Given the description of an element on the screen output the (x, y) to click on. 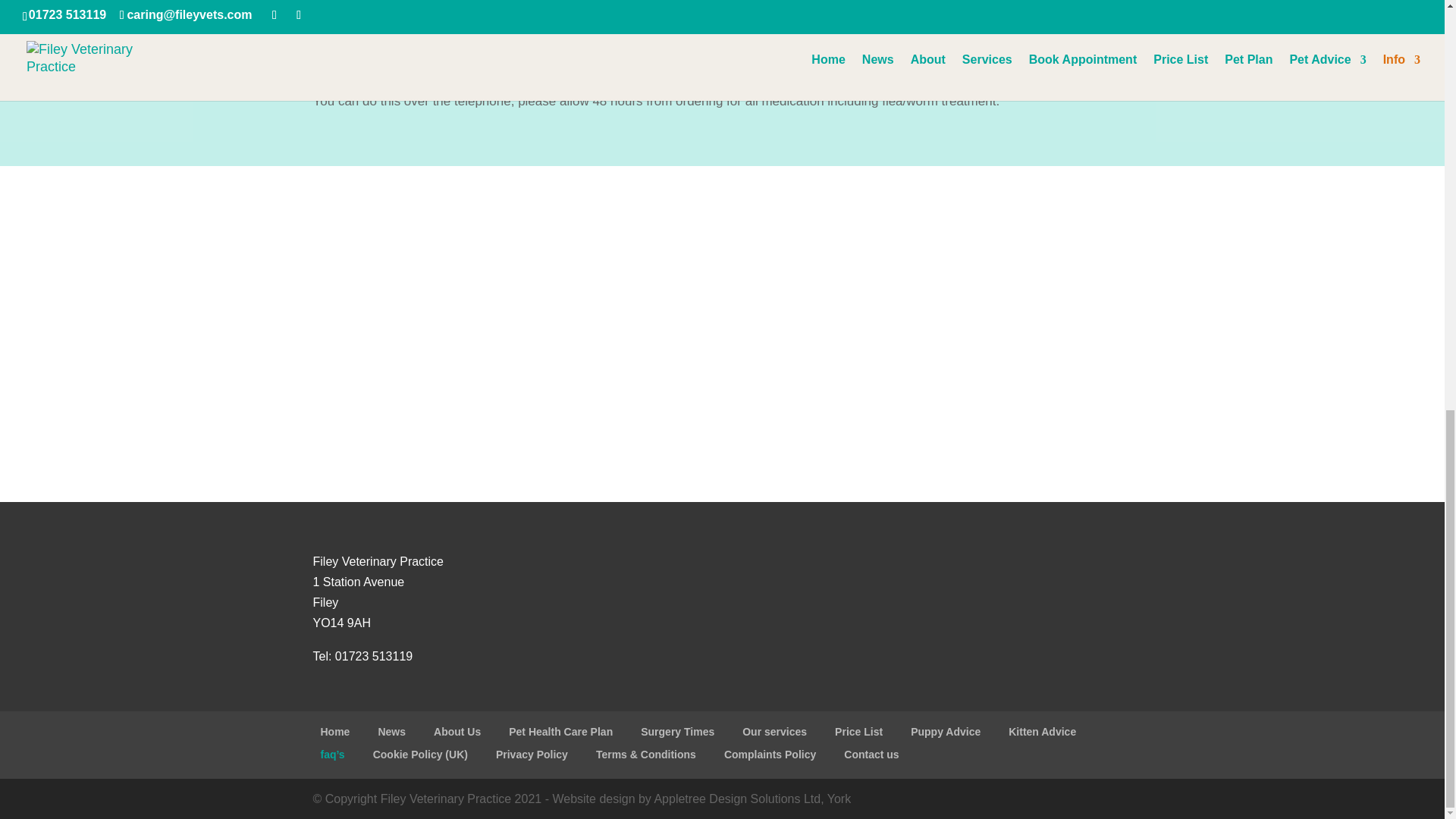
Surgery Times (677, 731)
News (391, 731)
Price List (858, 731)
Our services (774, 731)
About Us (456, 731)
Home (334, 731)
Pet Health Care Plan (560, 731)
